Given the description of an element on the screen output the (x, y) to click on. 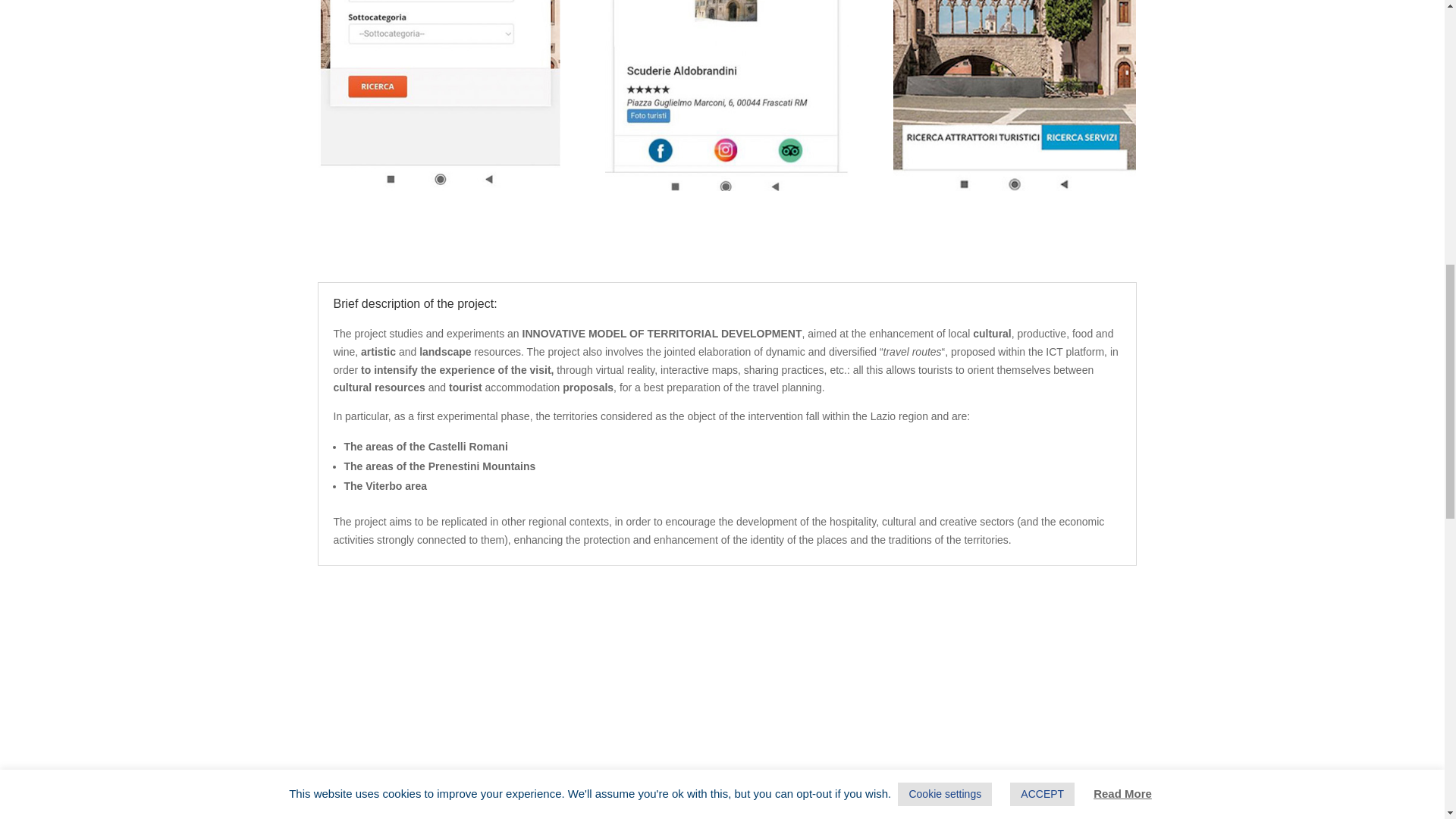
Lodinet1 (726, 95)
lodinet3 (438, 95)
Lodinet-palazzo (1014, 95)
